Given the description of an element on the screen output the (x, y) to click on. 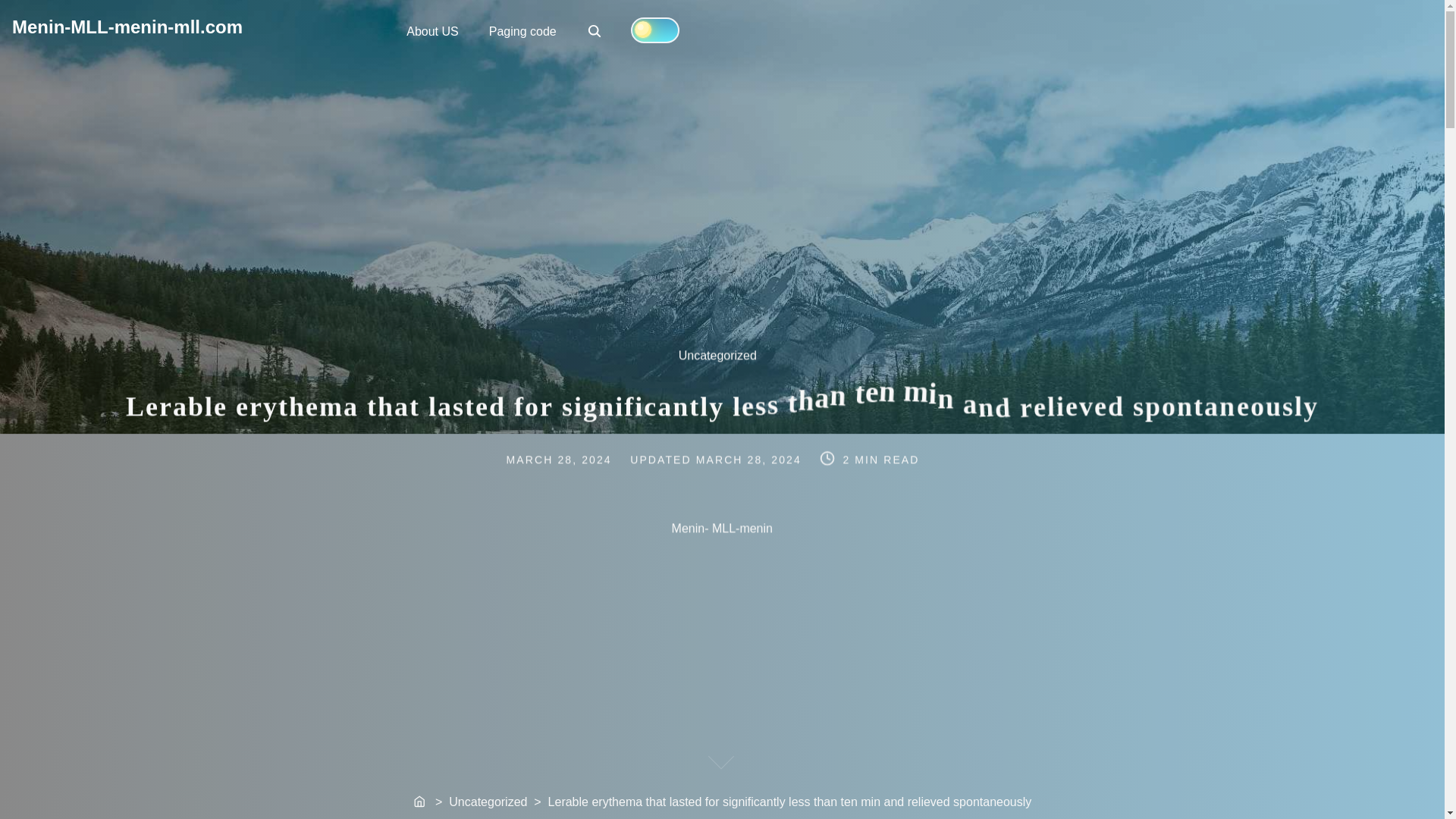
Home (420, 802)
Paging code (523, 30)
About US (432, 30)
MARCH 28, 2024 (575, 458)
Uncategorized (724, 362)
MARCH 28, 2024 (750, 458)
Search (594, 30)
Menin-MLL-menin-mll.com (596, 31)
